Given the description of an element on the screen output the (x, y) to click on. 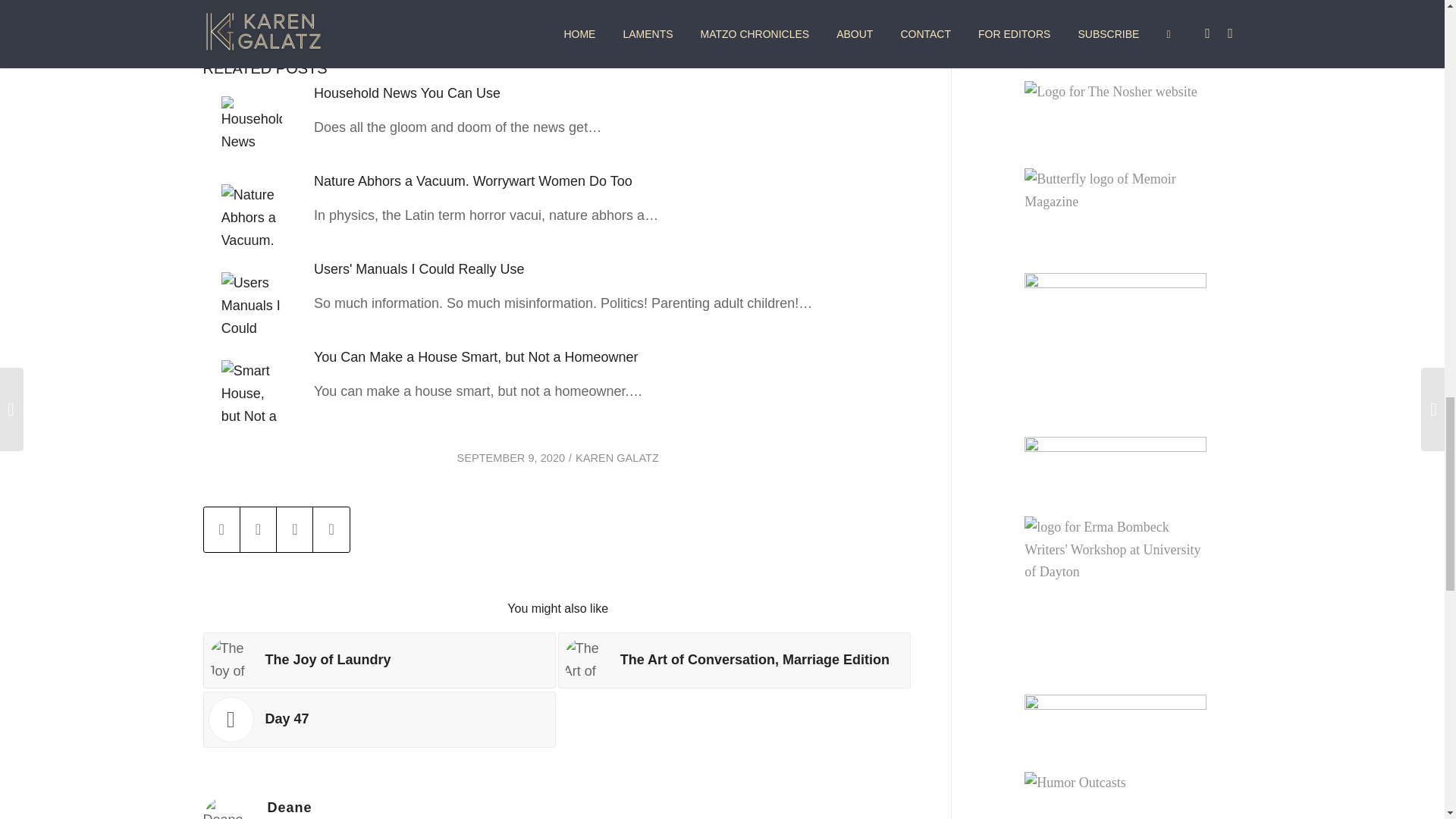
Users' Manuals I Could Really Use (419, 268)
Posts by Karen Galatz (617, 458)
Nature Abhors a Vacuum. Worrywart Women Do Too (472, 181)
You Can Make a House Smart, but Not a Homeowner (476, 356)
KAREN GALATZ (617, 458)
Household News You Can Use (407, 92)
